Given the description of an element on the screen output the (x, y) to click on. 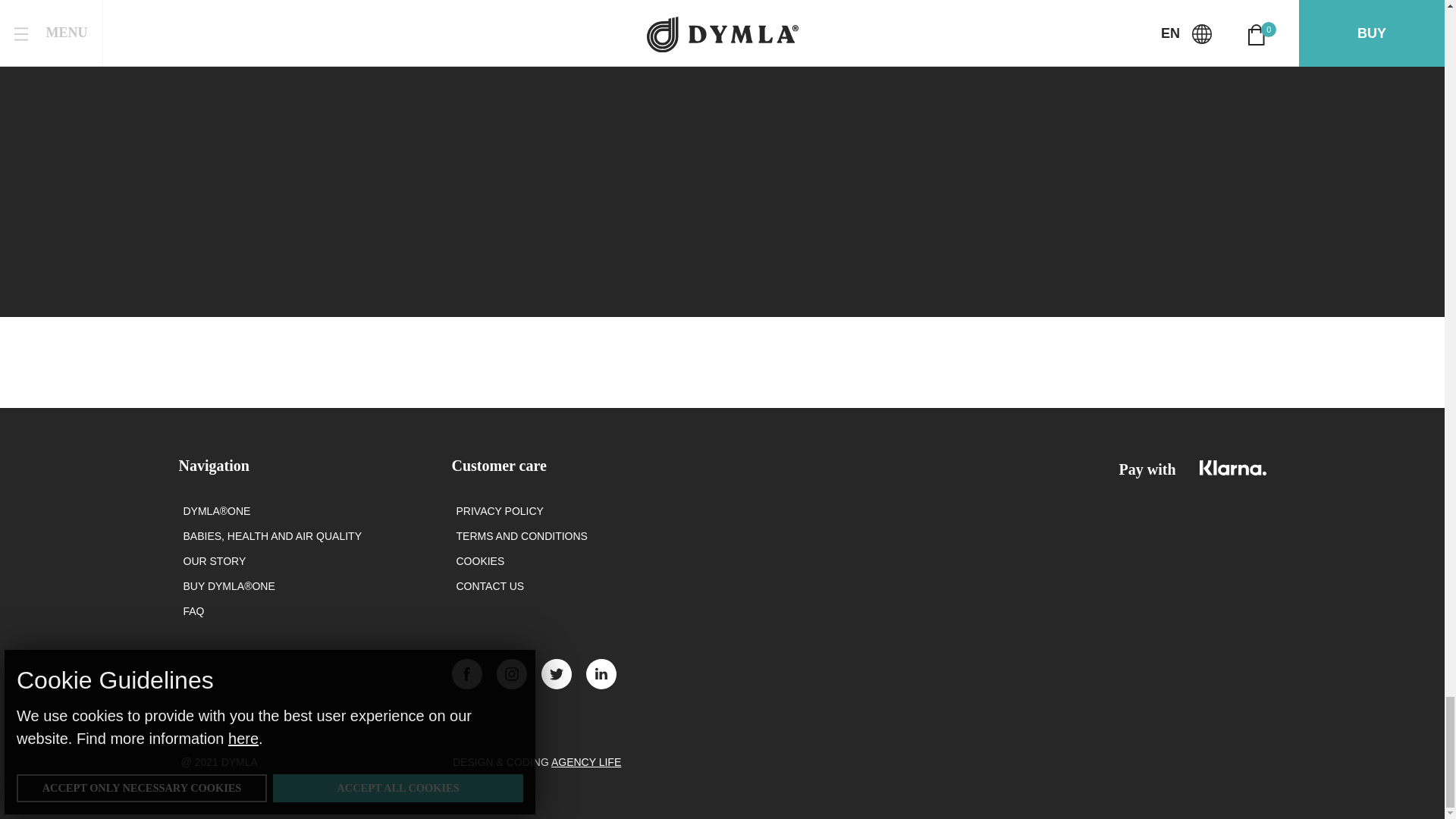
OUR STORY (214, 561)
CONTACT US (490, 586)
TERMS AND CONDITIONS (522, 536)
BABIES, HEALTH AND AIR QUALITY (272, 536)
FAQ (194, 611)
PRIVACY POLICY (500, 511)
COOKIES (481, 561)
